Given the description of an element on the screen output the (x, y) to click on. 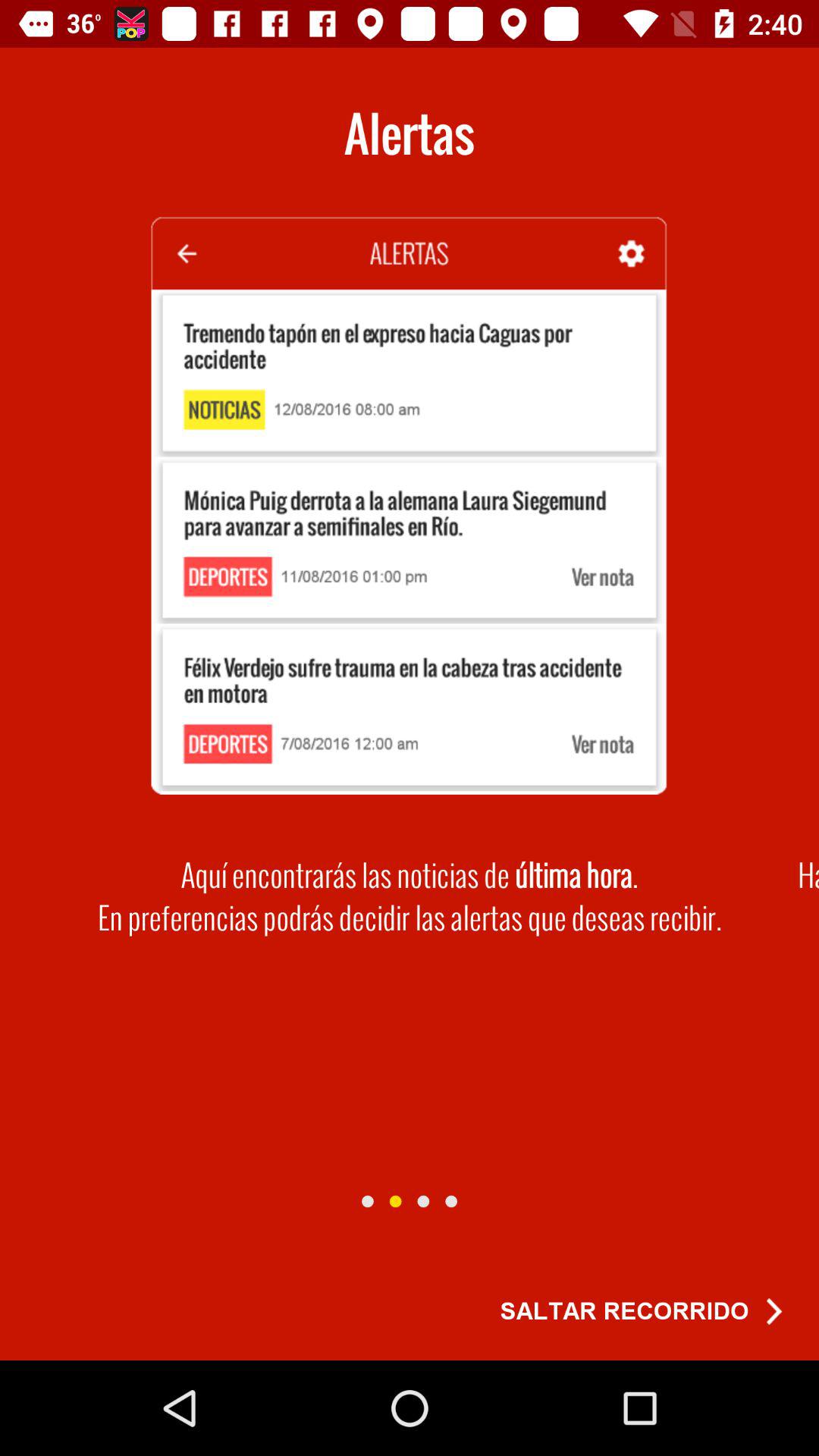
search homepage (395, 1201)
